Given the description of an element on the screen output the (x, y) to click on. 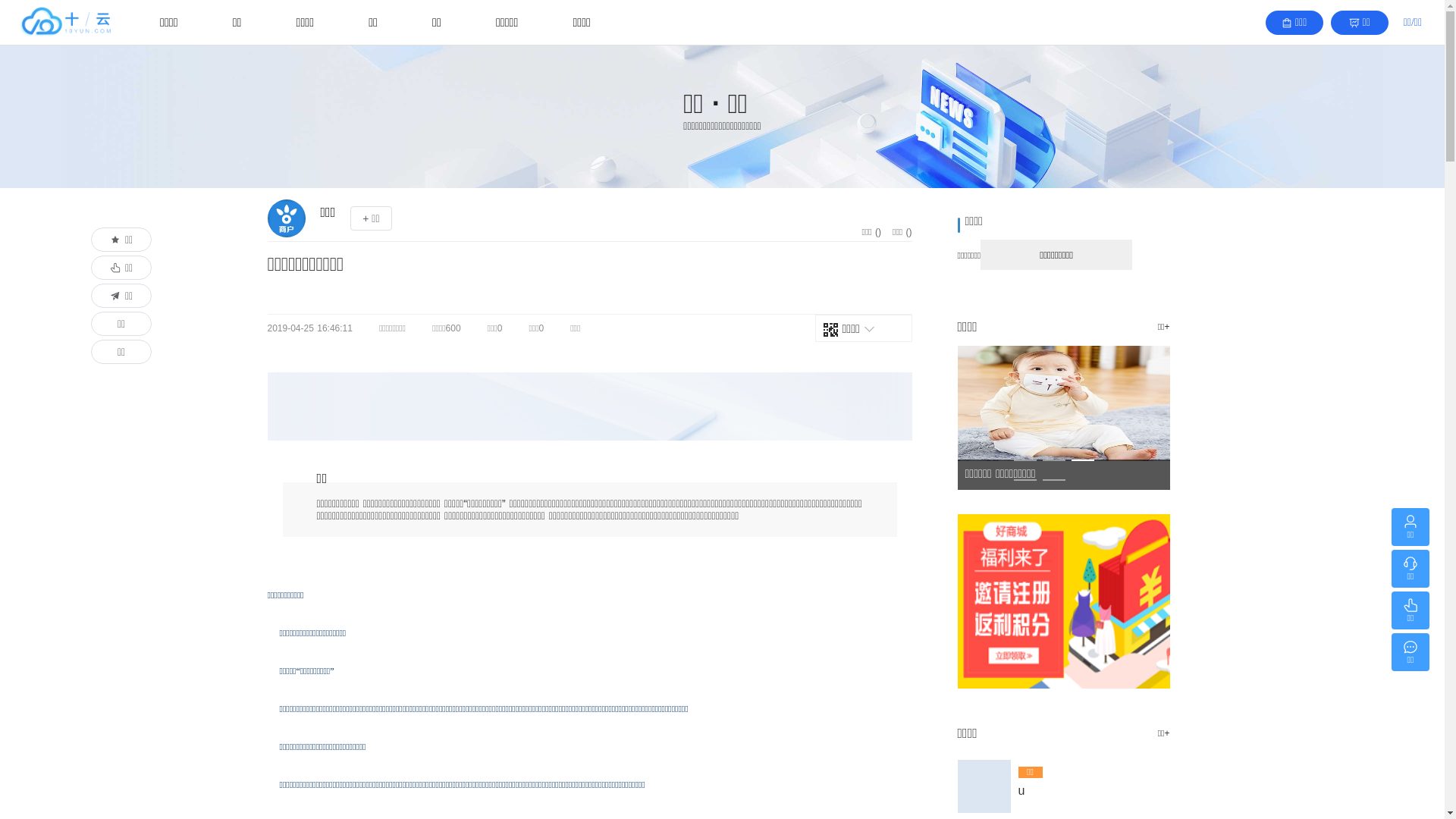
  Element type: hover (983, 809)
u Element type: text (1089, 790)
# Element type: hover (1063, 617)
# Element type: hover (588, 406)
